Given the description of an element on the screen output the (x, y) to click on. 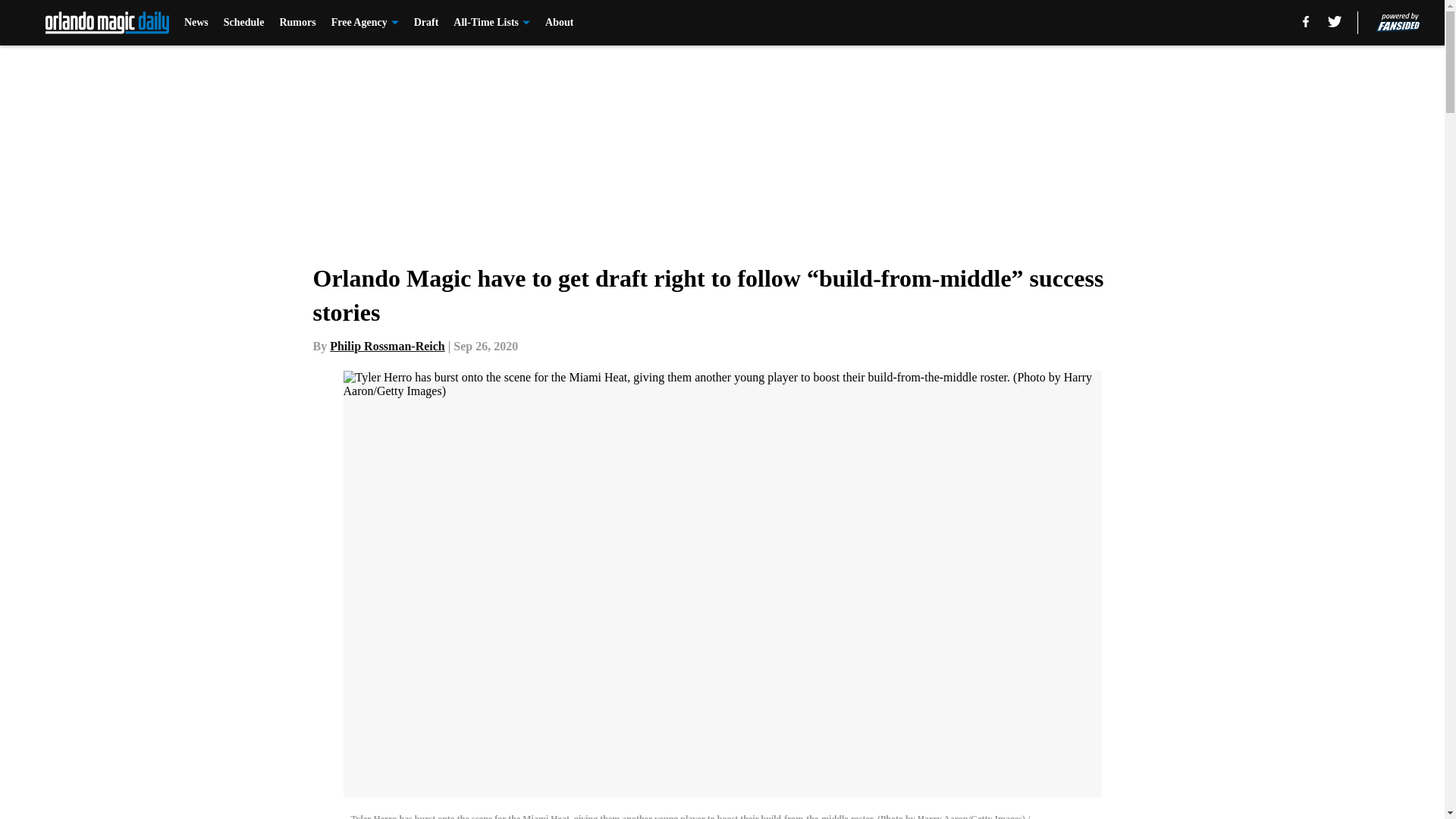
All-Time Lists (490, 22)
Rumors (297, 22)
Free Agency (364, 22)
Draft (426, 22)
Philip Rossman-Reich (387, 345)
News (196, 22)
About (558, 22)
Schedule (244, 22)
